Given the description of an element on the screen output the (x, y) to click on. 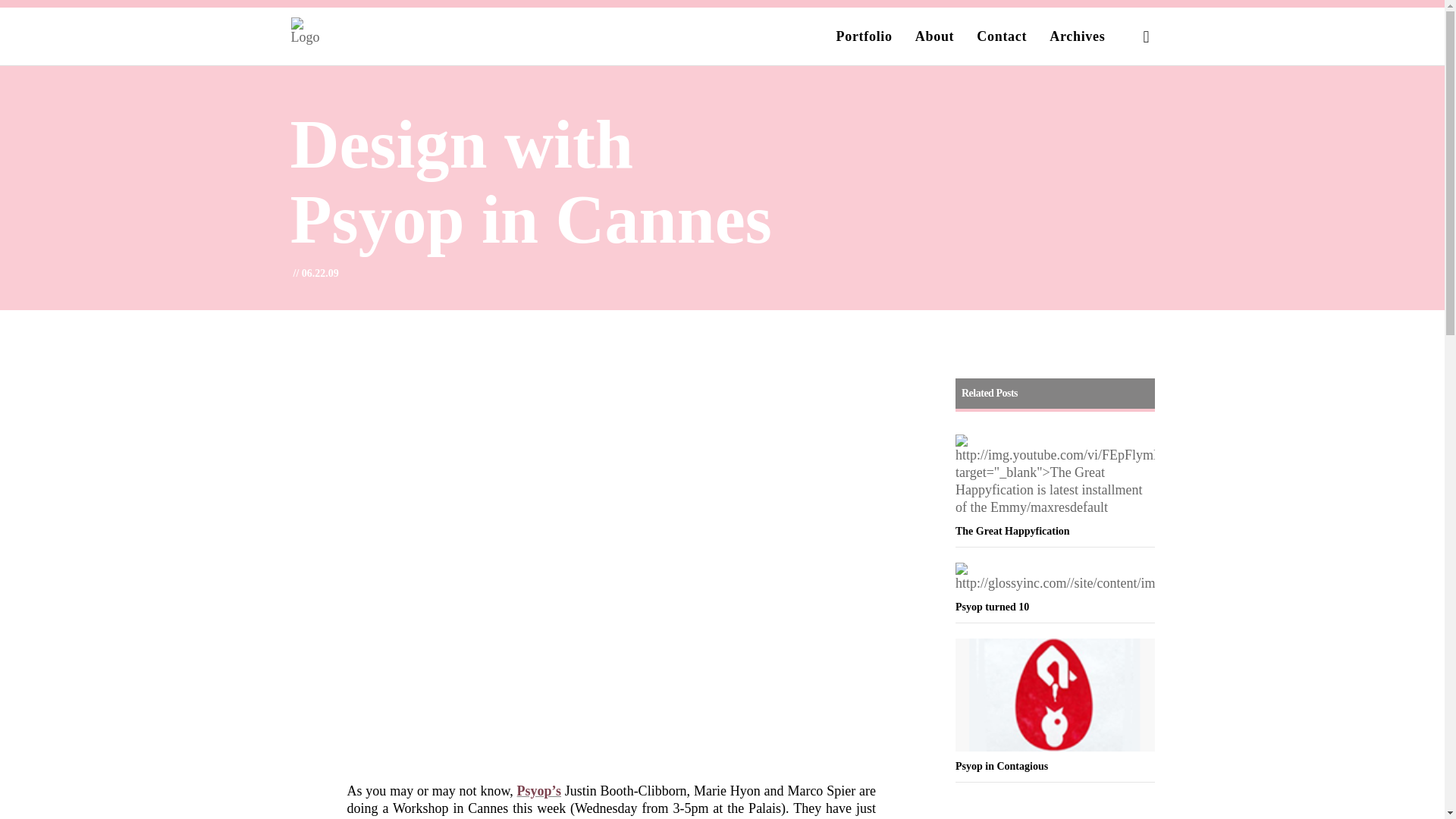
Psyop turned 10 (1054, 591)
Portfolio (864, 36)
The Great Happyfication (1054, 502)
About (935, 36)
Portfolio (864, 36)
Glossy (339, 33)
The Great Happyfication (1054, 502)
Contact (1001, 36)
About (935, 36)
Archives (1077, 36)
